Given the description of an element on the screen output the (x, y) to click on. 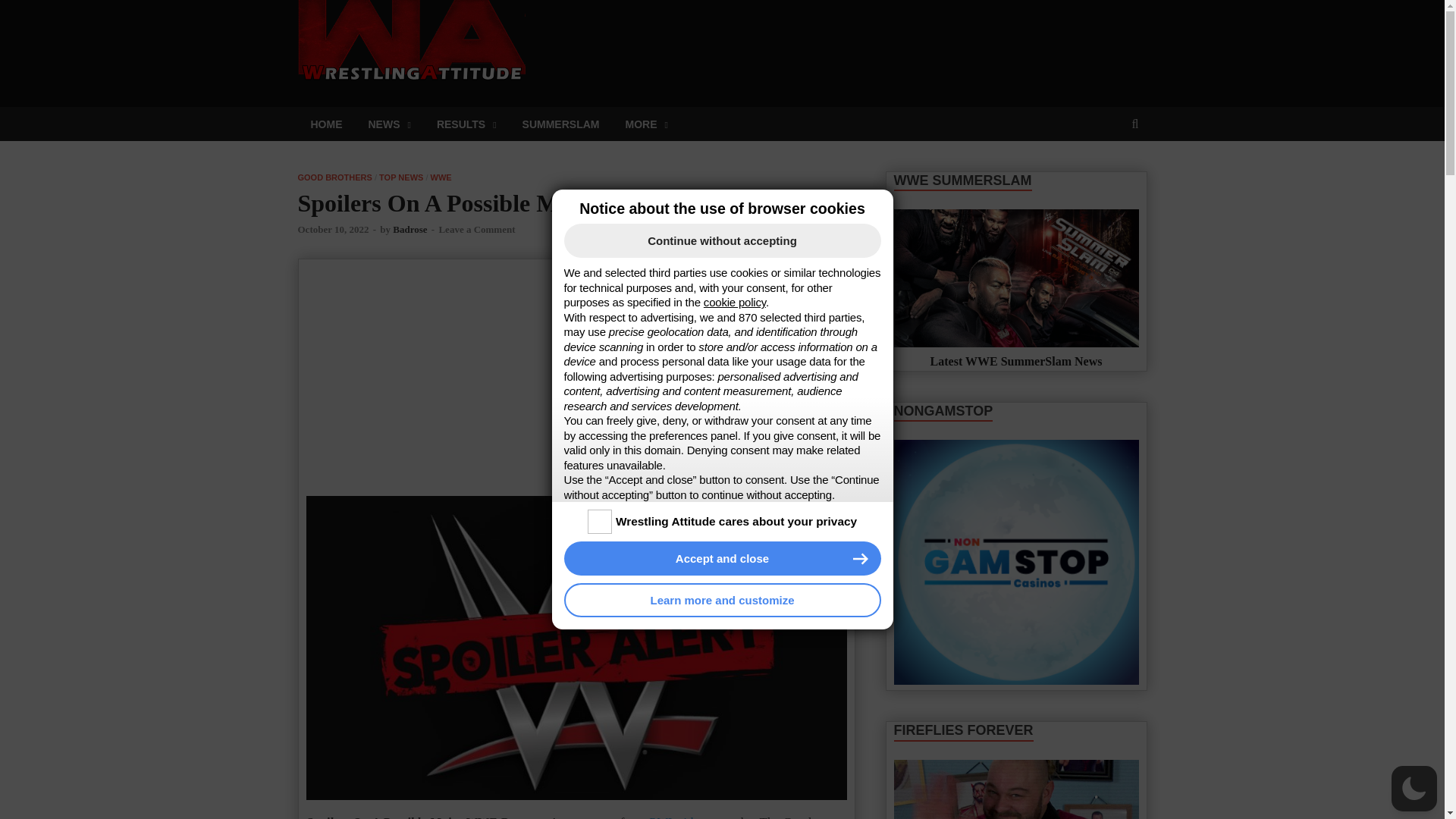
Non Gamstop Casinos (1015, 561)
NEWS (389, 123)
RESULTS (466, 123)
HOME (326, 123)
MORE (645, 123)
SUMMERSLAM (560, 123)
Wrestling Attitude (645, 27)
WWE SummerSlam (1015, 278)
